Given the description of an element on the screen output the (x, y) to click on. 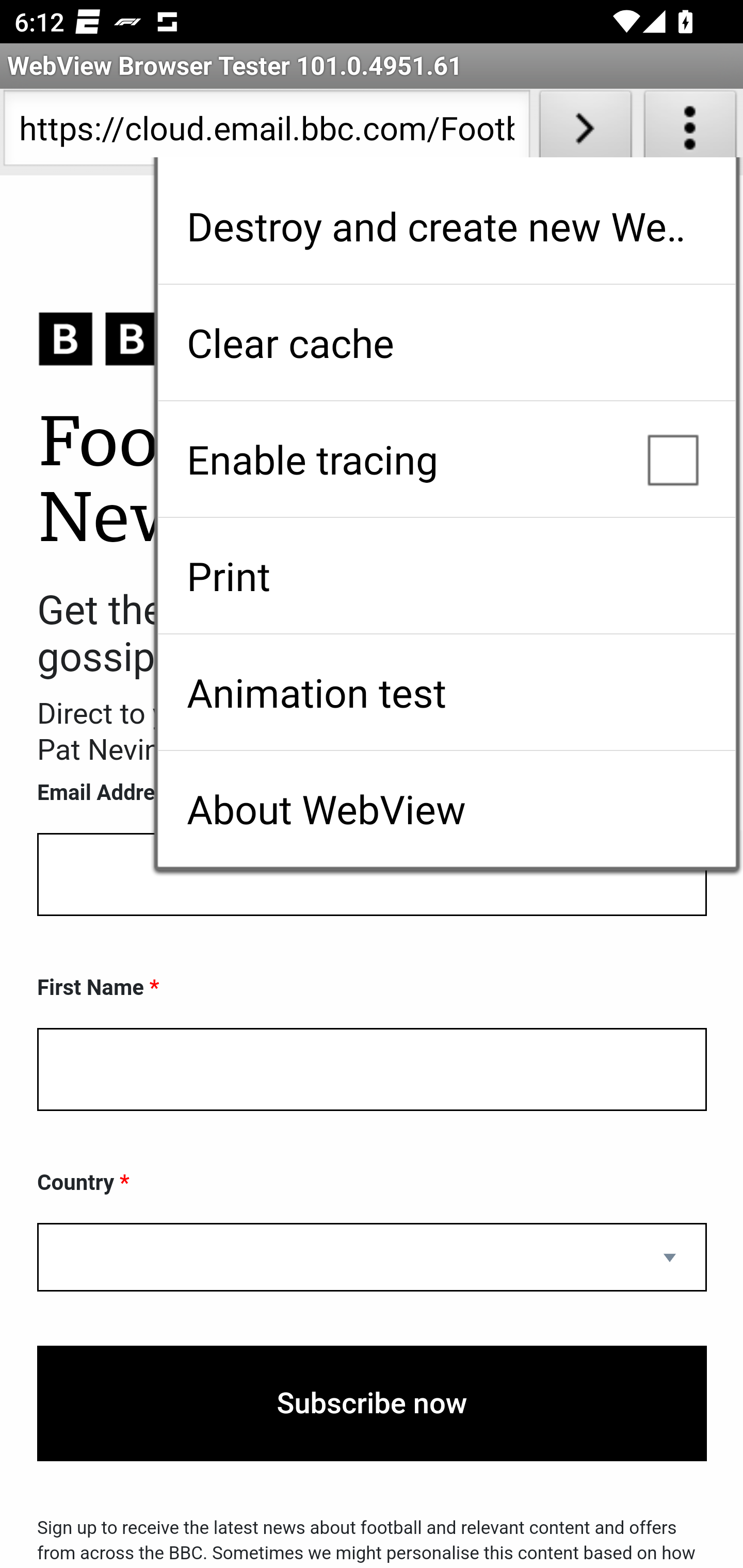
Destroy and create new WebView (446, 225)
Clear cache (446, 342)
Enable tracing (446, 459)
Print (446, 575)
Animation test (446, 692)
About WebView (446, 809)
